Given the description of an element on the screen output the (x, y) to click on. 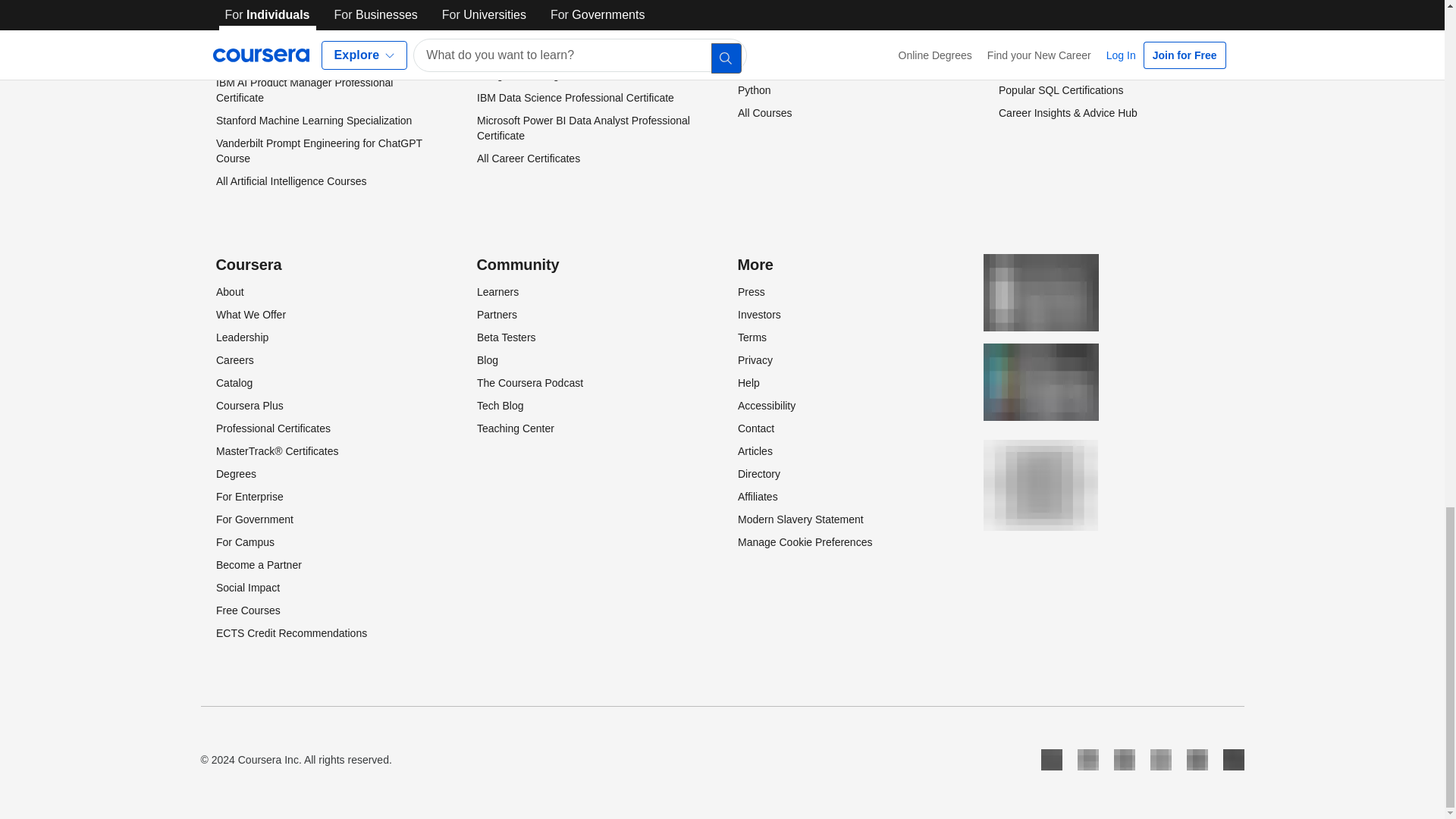
DLAI GenAI with LLMs Course (287, 2)
Google Cloud Introduction to Generative AI Course (316, 52)
All Artificial Intelligence Courses (290, 181)
Vanderbilt Prompt Engineering for ChatGPT Course (318, 150)
IBM AI Product Manager Professional Certificate (303, 90)
Stanford Machine Learning Specialization (312, 120)
Google AI Essentials (264, 21)
